Given the description of an element on the screen output the (x, y) to click on. 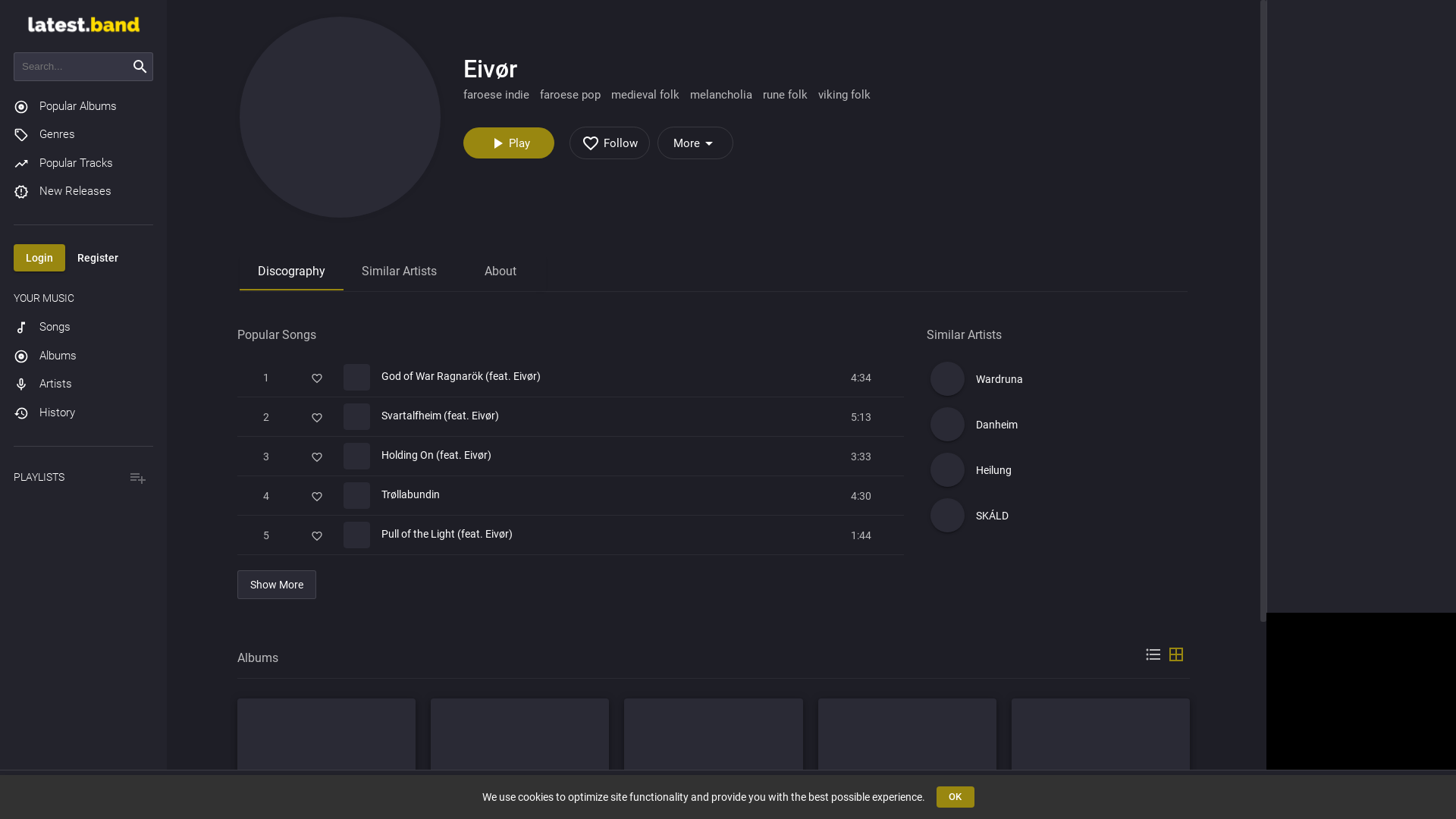
Artists Element type: text (83, 355)
Popular Tracks Element type: text (83, 133)
Albums Element type: text (83, 326)
Songs Element type: text (83, 298)
Genres Element type: text (83, 105)
viking folk Element type: text (849, 94)
More Element type: text (695, 142)
faroese pop Element type: text (575, 94)
melancholia Element type: text (726, 94)
About Element type: text (500, 272)
Login Element type: text (39, 228)
Show More Element type: text (276, 584)
Play Element type: text (508, 142)
Heilung Element type: text (1057, 469)
Similar Artists Element type: text (399, 272)
rune folk Element type: text (790, 94)
Wardruna Element type: text (1057, 378)
faroese indie Element type: text (501, 94)
Discography Element type: text (291, 272)
History Element type: text (83, 383)
Danheim Element type: text (1057, 424)
Register Element type: text (97, 228)
Follow Element type: text (609, 142)
medieval folk Element type: text (650, 94)
New Releases Element type: text (83, 161)
Popular Albums Element type: text (83, 76)
